Given the description of an element on the screen output the (x, y) to click on. 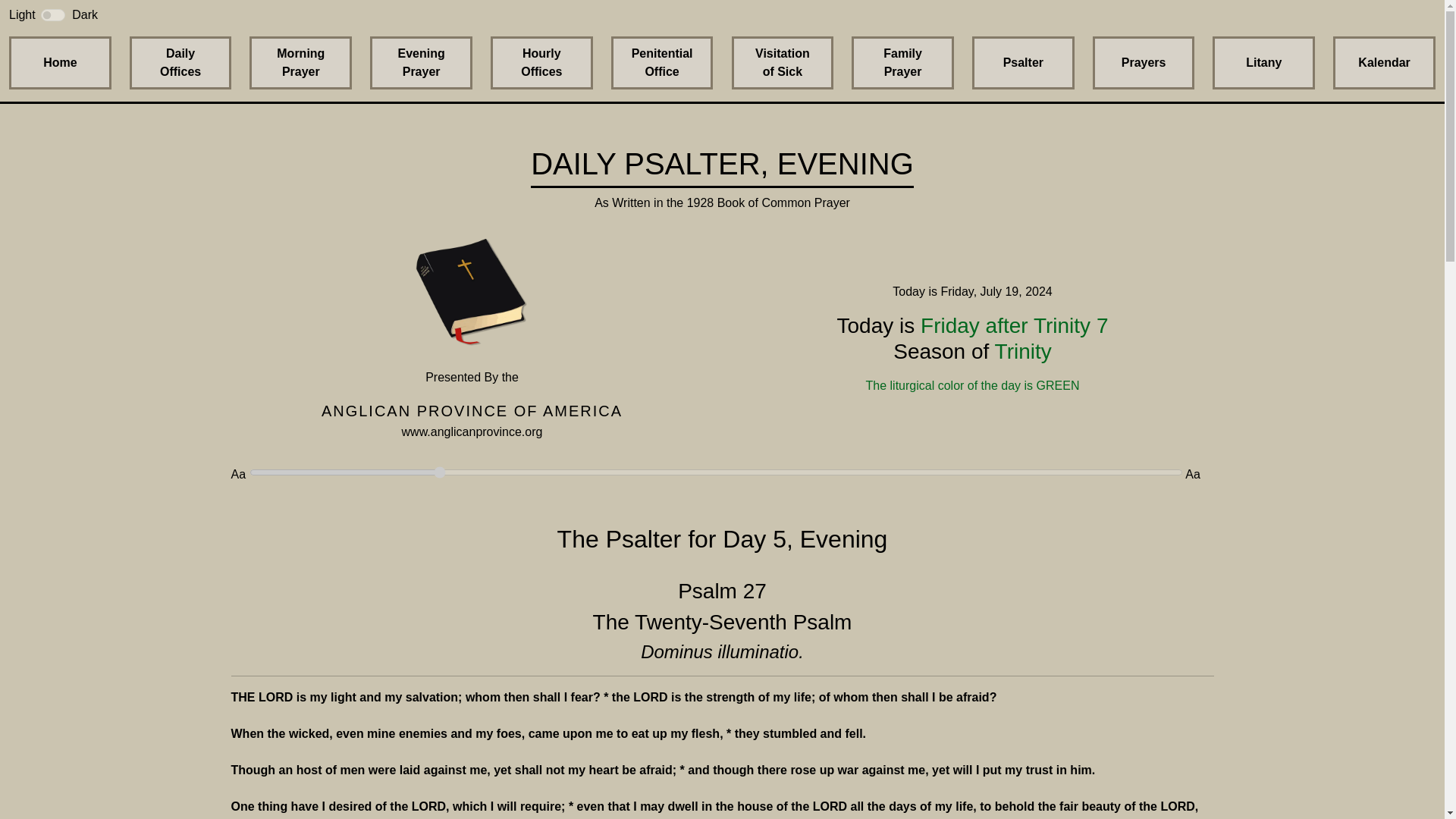
Kalendar (300, 62)
Home (781, 62)
Litany (1384, 62)
on (60, 62)
16 (1263, 62)
Psalter (52, 15)
Prayers (420, 62)
www.anglicanprovince.org (180, 62)
